Given the description of an element on the screen output the (x, y) to click on. 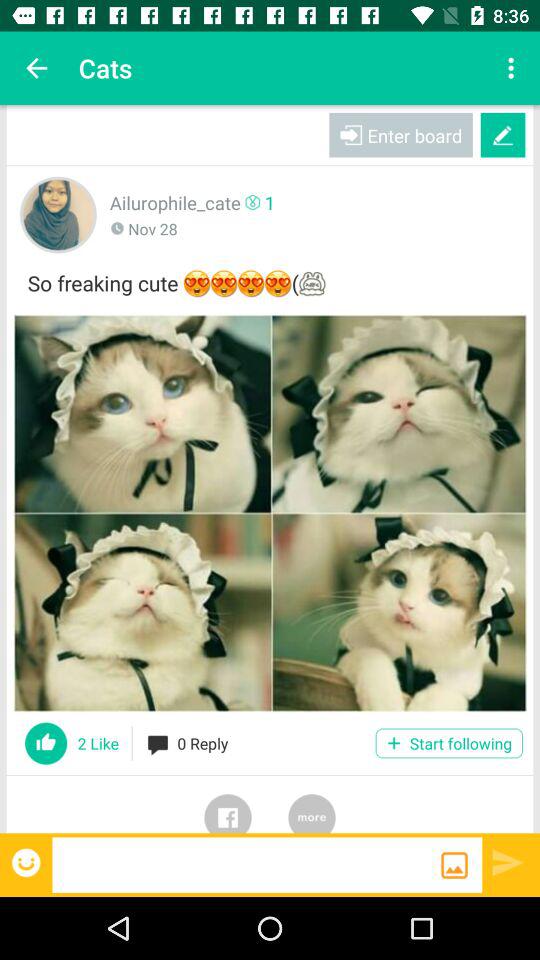
click so freaking cute icon (269, 280)
